Given the description of an element on the screen output the (x, y) to click on. 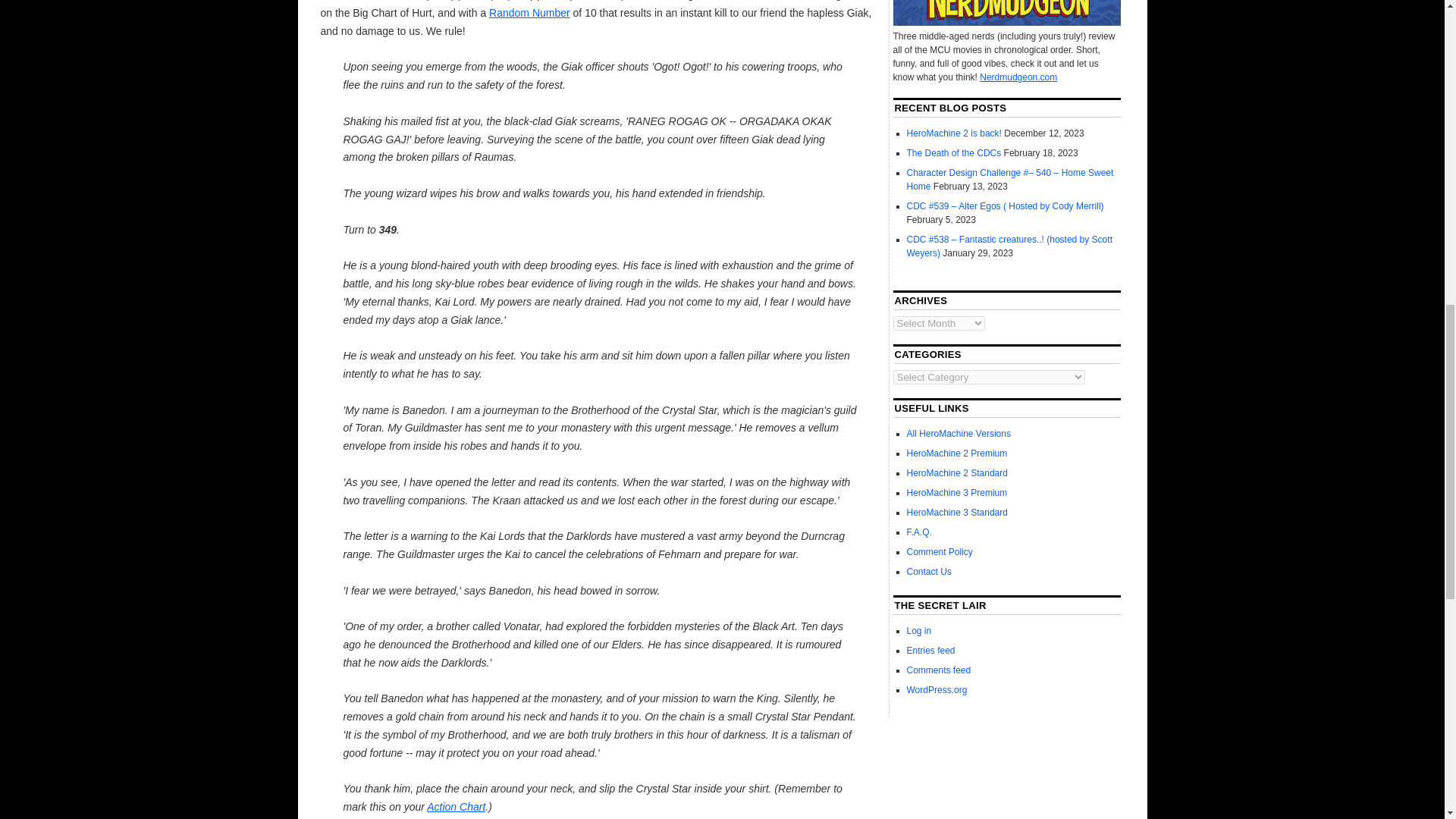
HeroMachine 3 Standard (957, 511)
HeroMachine 2 Premium (957, 452)
F.A.Q. (919, 532)
All HeroMachine Versions (958, 433)
HeroMachine 2 Standard (957, 472)
Random Number (529, 12)
Nerdmudgeon.com (1018, 77)
HeroMachine 2 is back! (954, 132)
The Death of the CDCs (954, 153)
HeroMachine 3 Premium (957, 492)
Action Chart (455, 806)
